Given the description of an element on the screen output the (x, y) to click on. 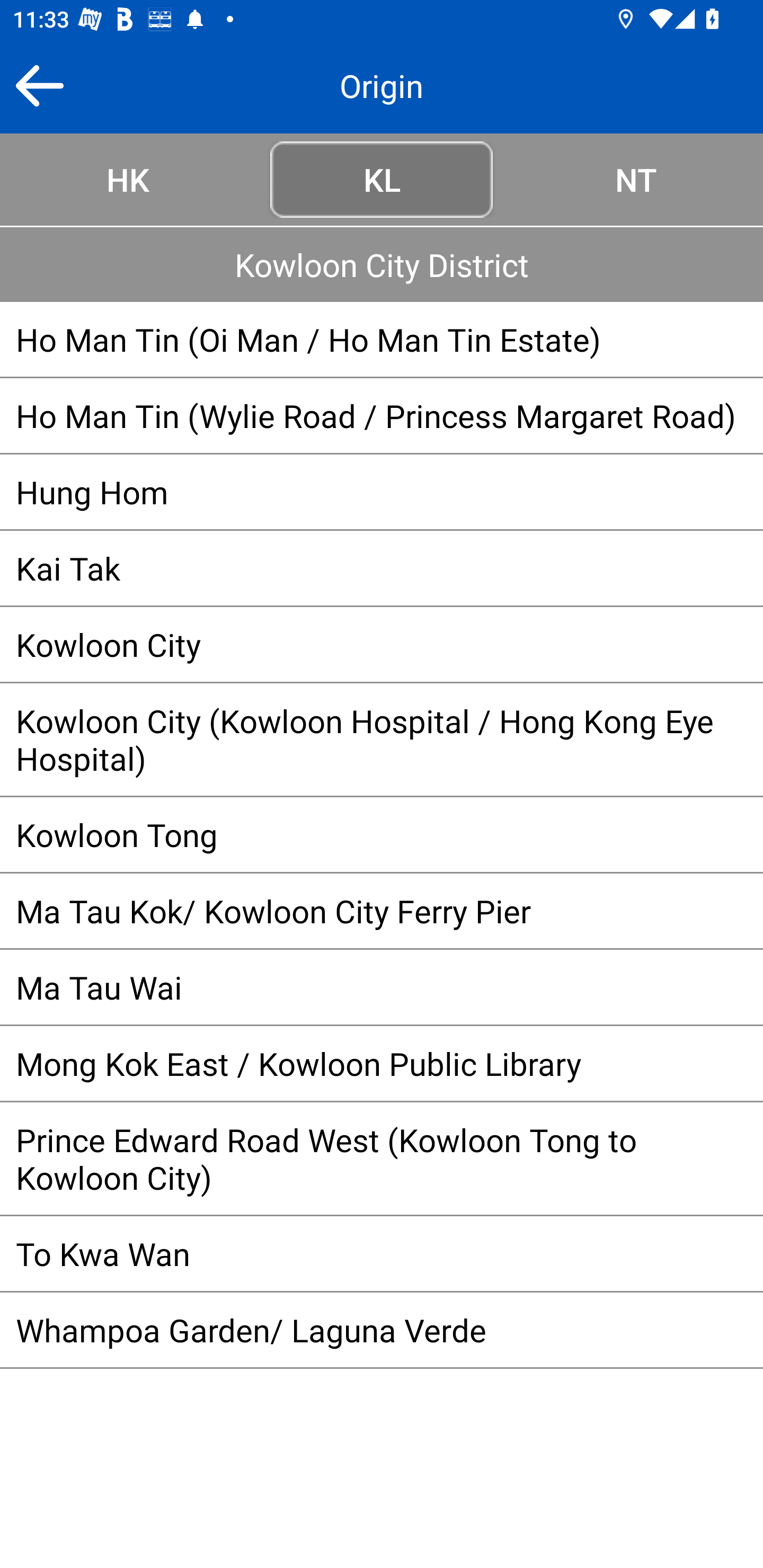
Back (39, 85)
HK (127, 179)
KL (381, 179)
NT (635, 179)
Kowloon City District (381, 263)
Ho Man Tin (Oi Man / Ho Man Tin Estate) (381, 339)
Ho Man Tin (Wylie Road / Princess Margaret Road) (381, 415)
Hung Hom (381, 491)
Kai Tak (381, 568)
Kowloon City (381, 644)
Kowloon Tong (381, 833)
Ma Tau Kok/ Kowloon City Ferry Pier (381, 910)
Ma Tau Wai (381, 986)
Mong Kok East / Kowloon Public Library (381, 1062)
To Kwa Wan (381, 1253)
Whampoa Garden/ Laguna Verde (381, 1329)
